Given the description of an element on the screen output the (x, y) to click on. 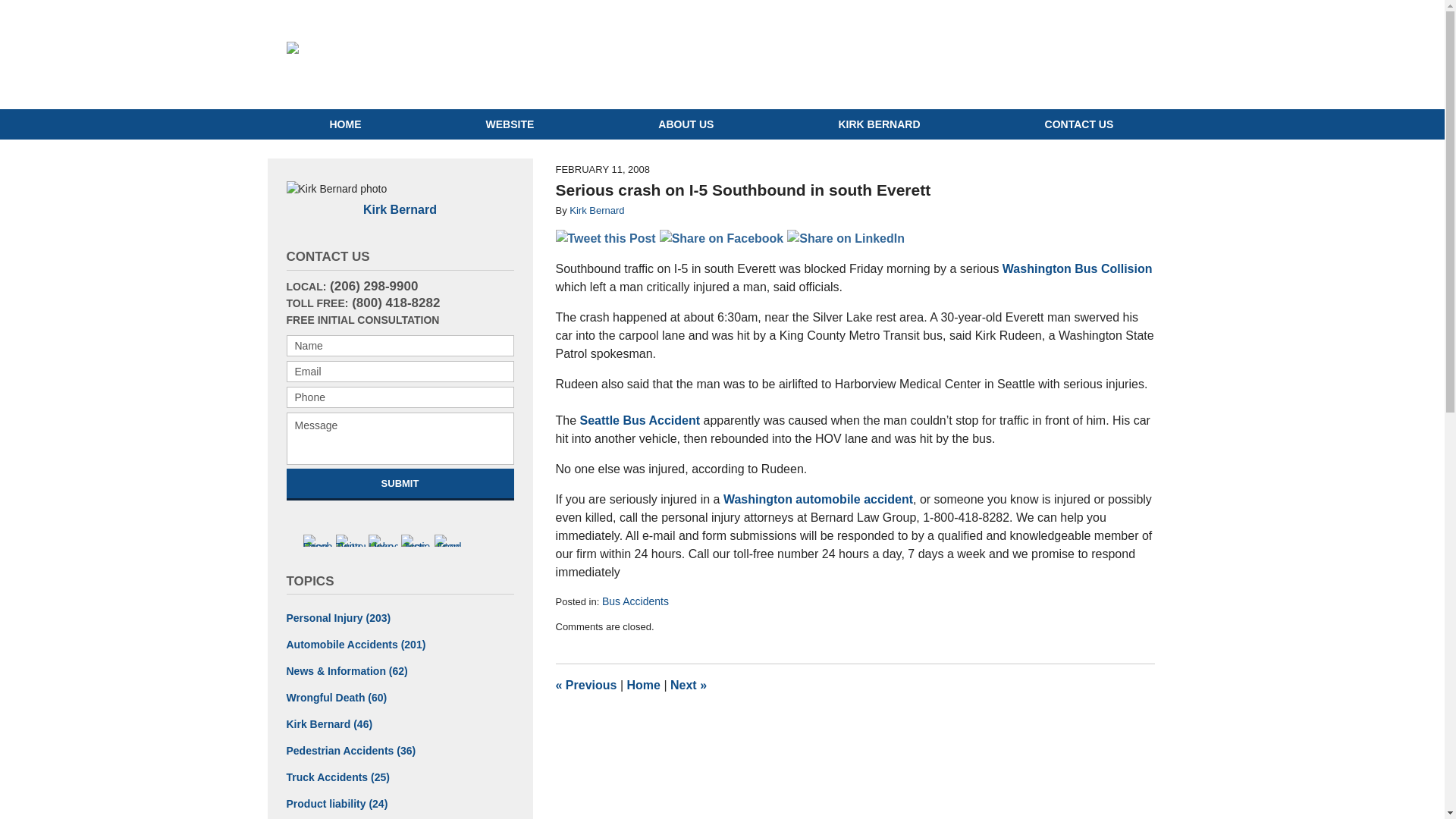
Washington Bus Collision (1078, 268)
Bus Accidents (635, 601)
LinkedIn (382, 540)
Seattle Bus Accident (639, 420)
Kirk Bernard (399, 209)
SUBMIT (399, 482)
Seattle Injury Blog (495, 54)
WEBSITE (509, 123)
Washington automobile accident (817, 499)
HOME (344, 123)
Facebook (317, 540)
Elderly pedestrian hit and killed by car (584, 684)
Home (642, 684)
CONTACT US (1079, 123)
ABOUT US (685, 123)
